Given the description of an element on the screen output the (x, y) to click on. 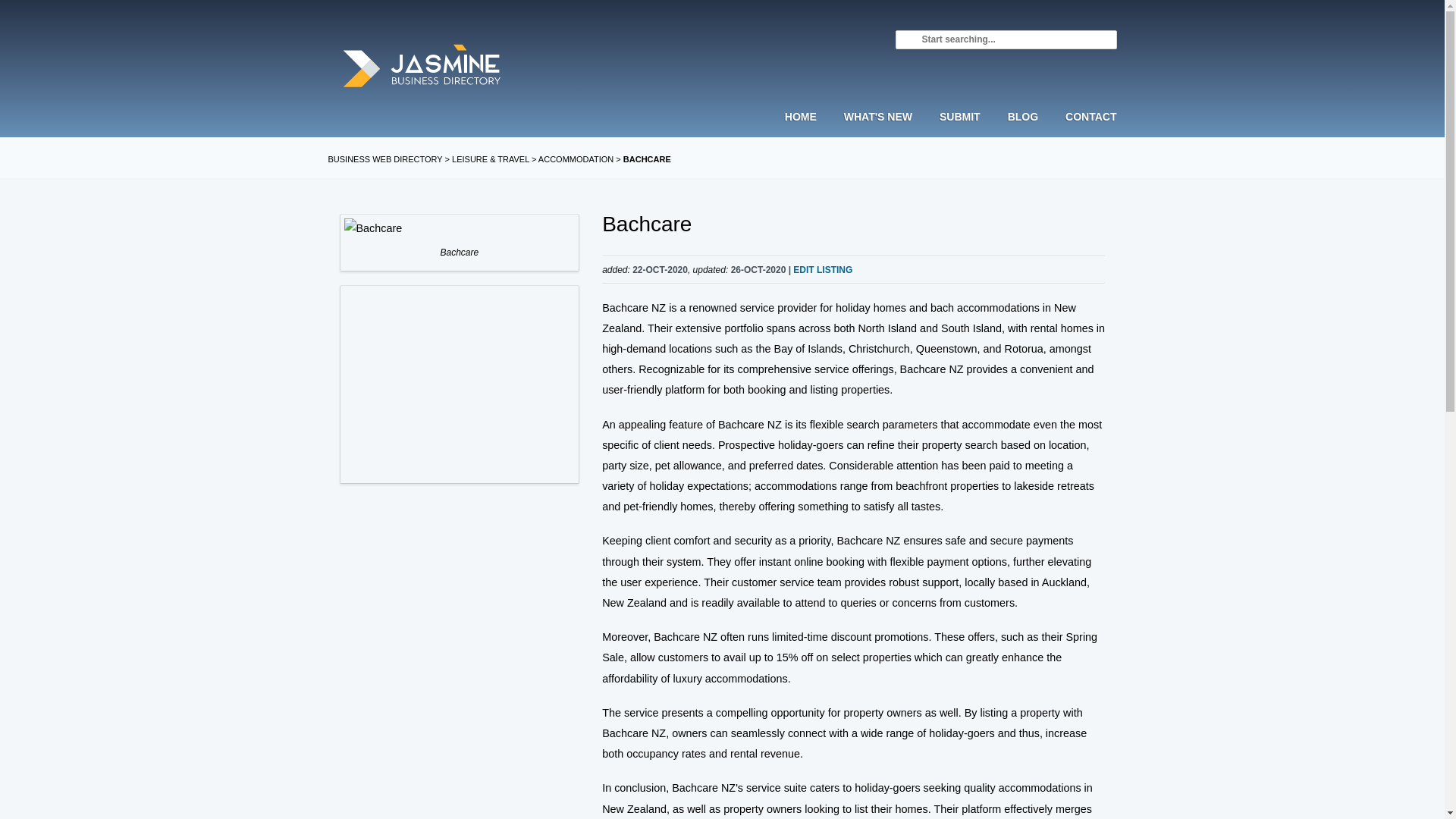
WHAT'S NEW (877, 130)
Jasmine Directory (421, 66)
BUSINESS WEB DIRECTORY (384, 158)
HOME (806, 130)
CONTACT (1083, 130)
BLOG (1022, 130)
EDIT LISTING (822, 269)
ACCOMMODATION (575, 158)
SUBMIT (960, 130)
